Given the description of an element on the screen output the (x, y) to click on. 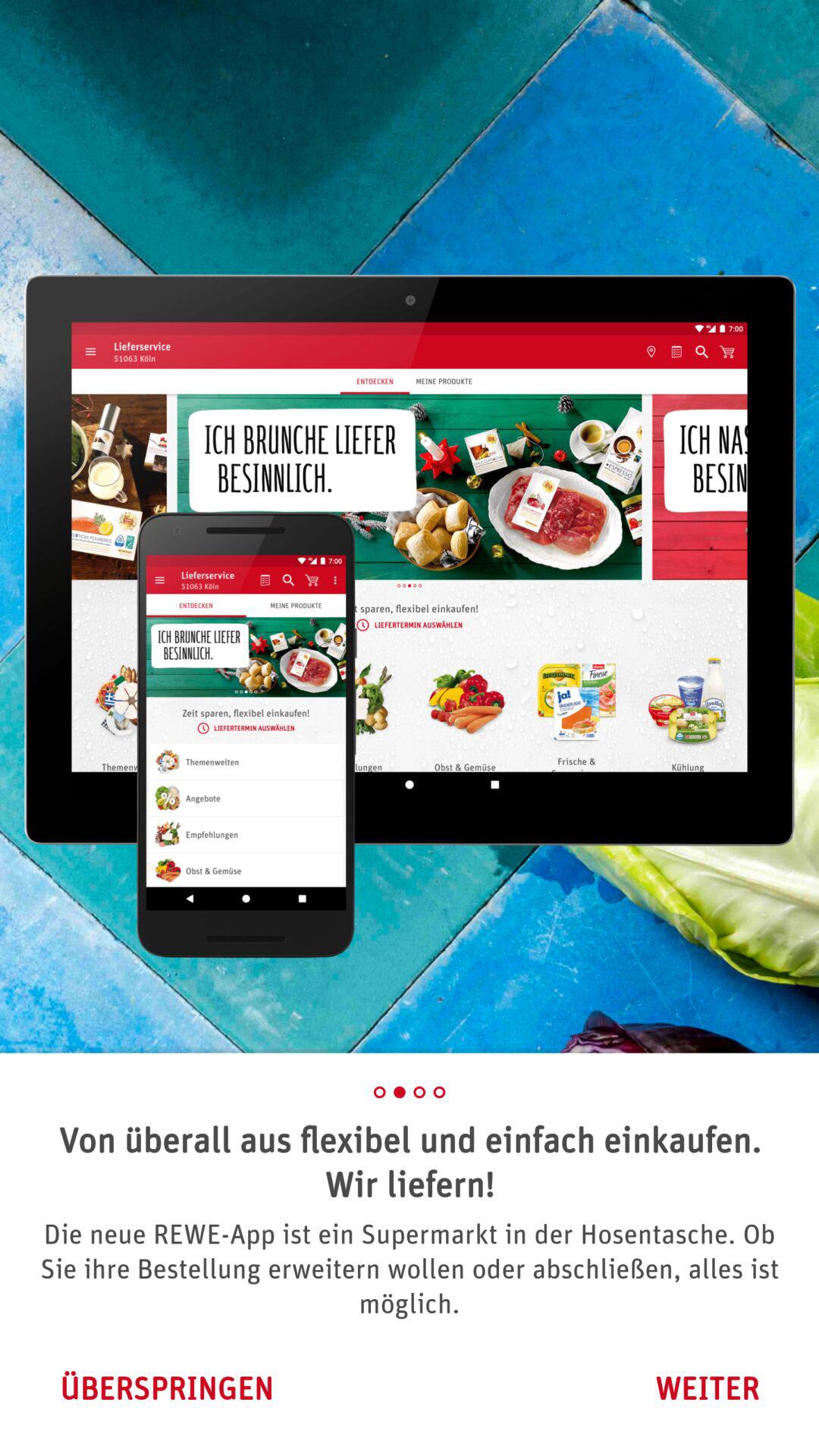
flip to weiter icon (707, 1388)
